Given the description of an element on the screen output the (x, y) to click on. 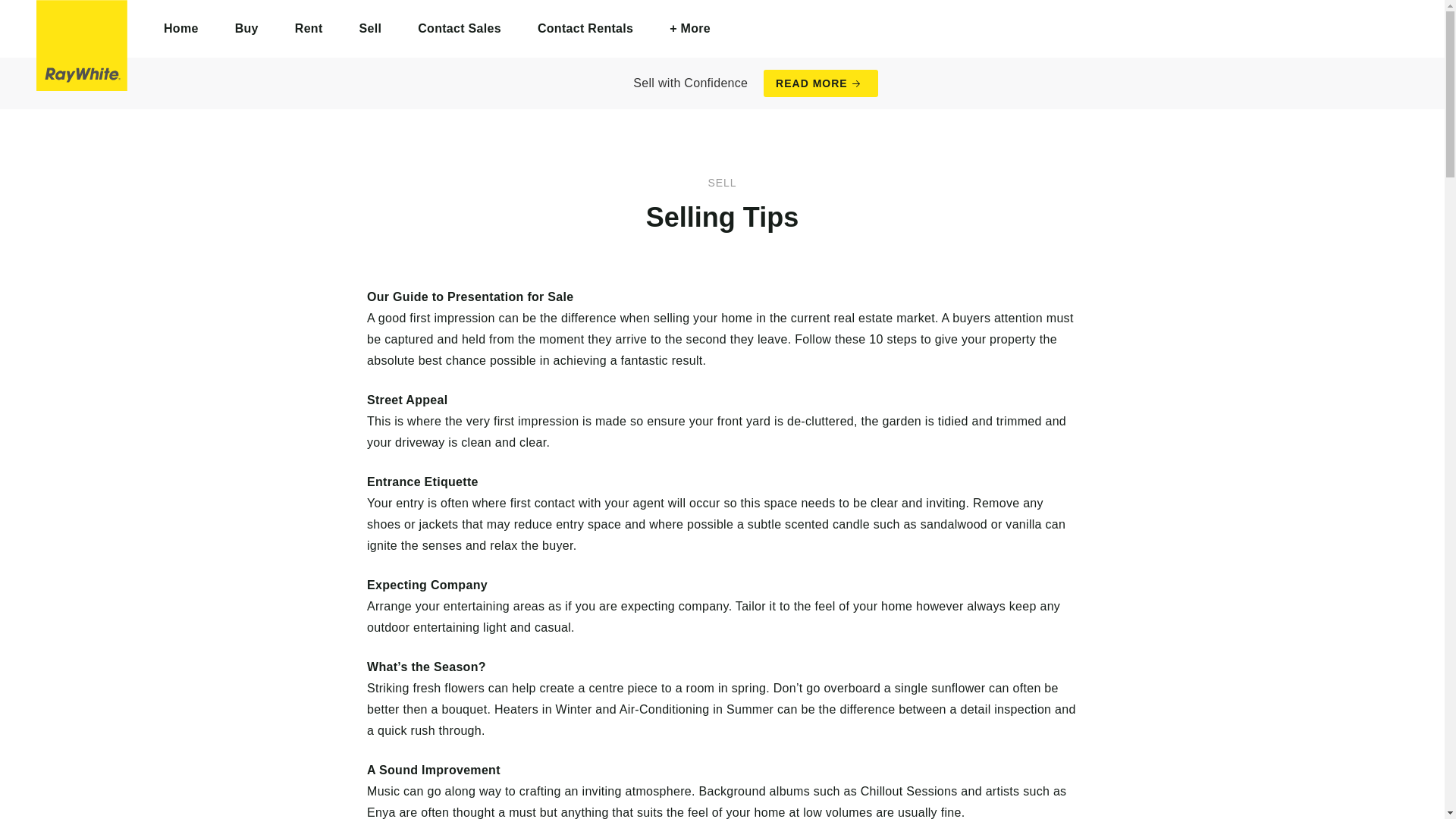
Contact Sales (458, 28)
READ MORE (819, 83)
Contact Rentals (584, 28)
Home (180, 28)
